Given the description of an element on the screen output the (x, y) to click on. 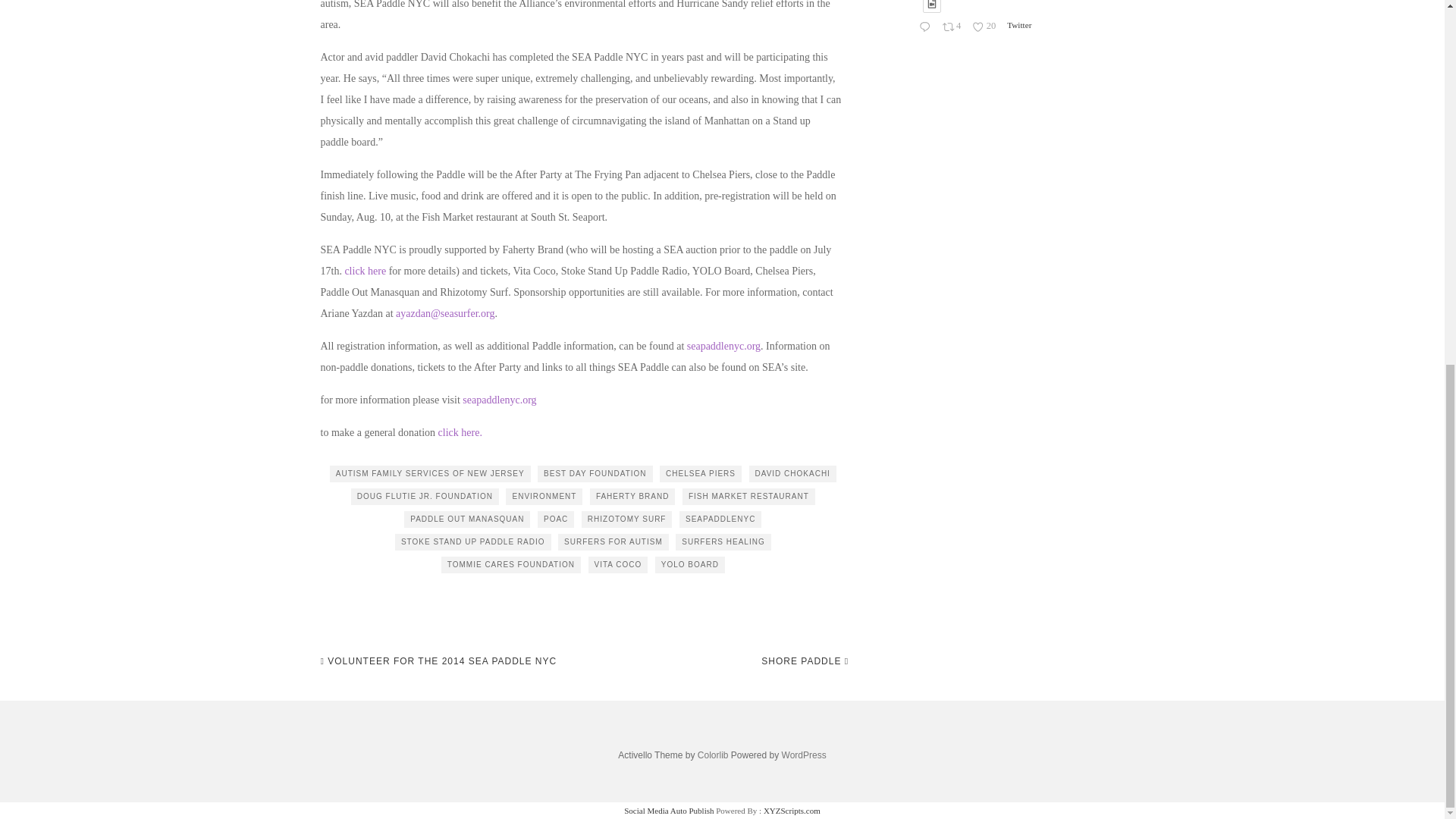
AUTISM FAMILY SERVICES OF NEW JERSEY (430, 474)
Social Media Auto Publish (668, 809)
ENVIRONMENT (543, 496)
DAVID CHOKACHI (792, 474)
click here (459, 432)
seapaddlenyc.org (499, 399)
DOUG FLUTIE JR. FOUNDATION (424, 496)
CHELSEA PIERS (700, 474)
RHIZOTOMY SURF (626, 519)
FISH MARKET RESTAURANT (748, 496)
POAC (555, 519)
PADDLE OUT MANASQUAN (466, 519)
BEST DAY FOUNDATION (594, 474)
FAHERTY BRAND (632, 496)
click here (364, 270)
